Given the description of an element on the screen output the (x, y) to click on. 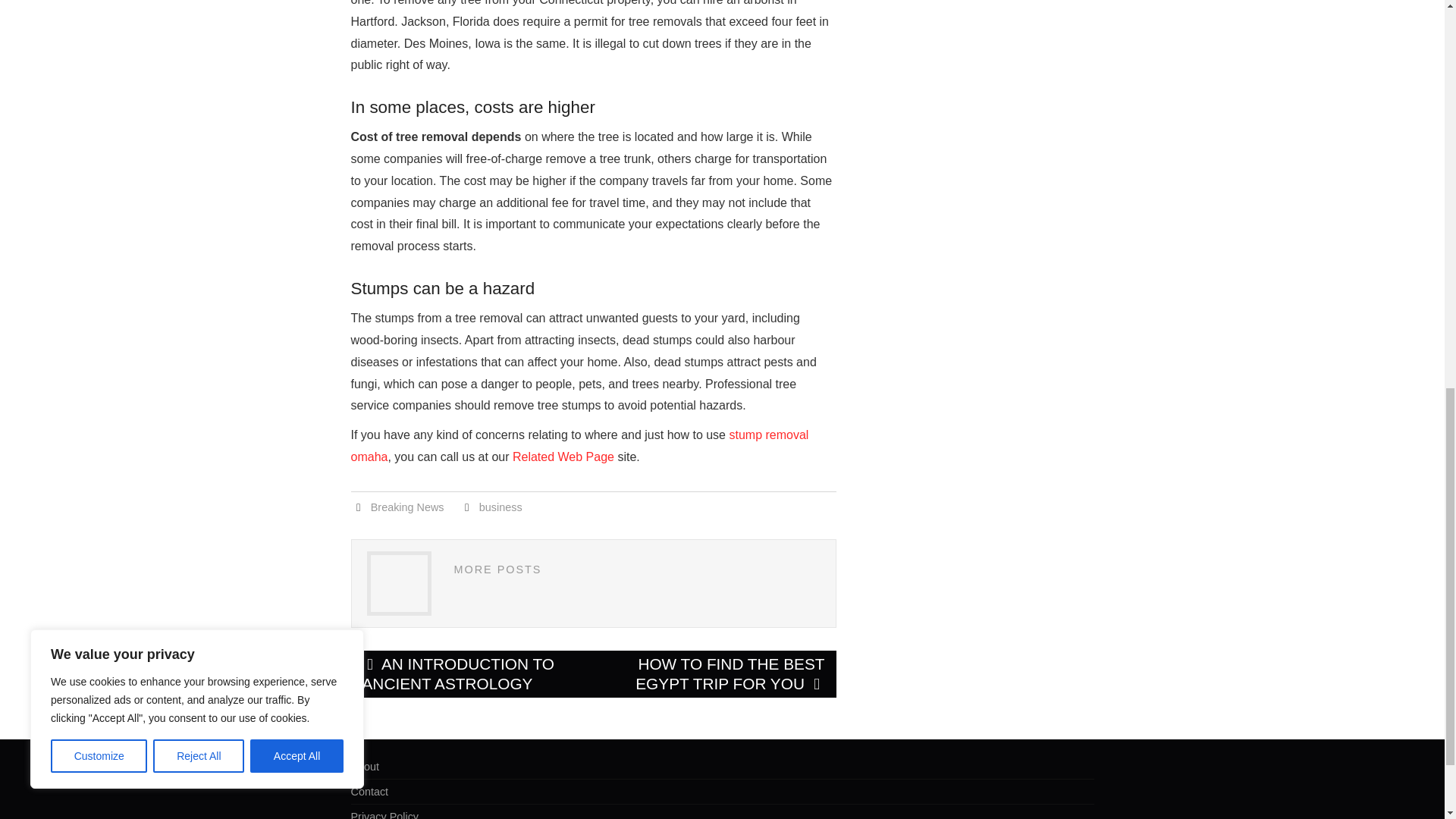
Related Web Page (563, 456)
AN INTRODUCTION TO ANCIENT ASTROLOGY (471, 673)
HOW TO FIND THE BEST EGYPT TRIP FOR YOU (713, 673)
Breaking News (407, 507)
business (500, 507)
MORE POSTS (496, 569)
stump removal omaha (579, 445)
